Given the description of an element on the screen output the (x, y) to click on. 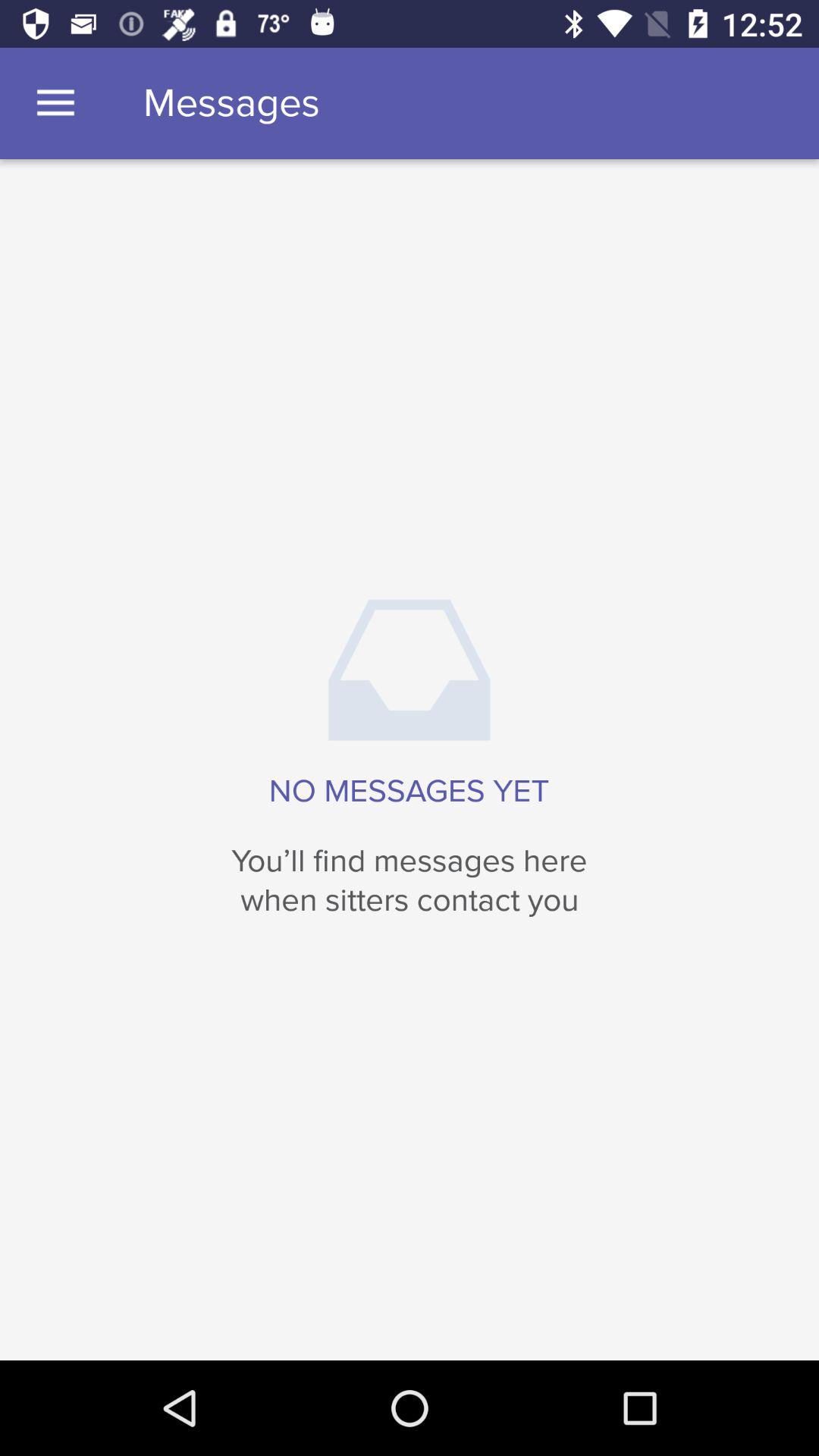
select the icon next to messages item (55, 103)
